Given the description of an element on the screen output the (x, y) to click on. 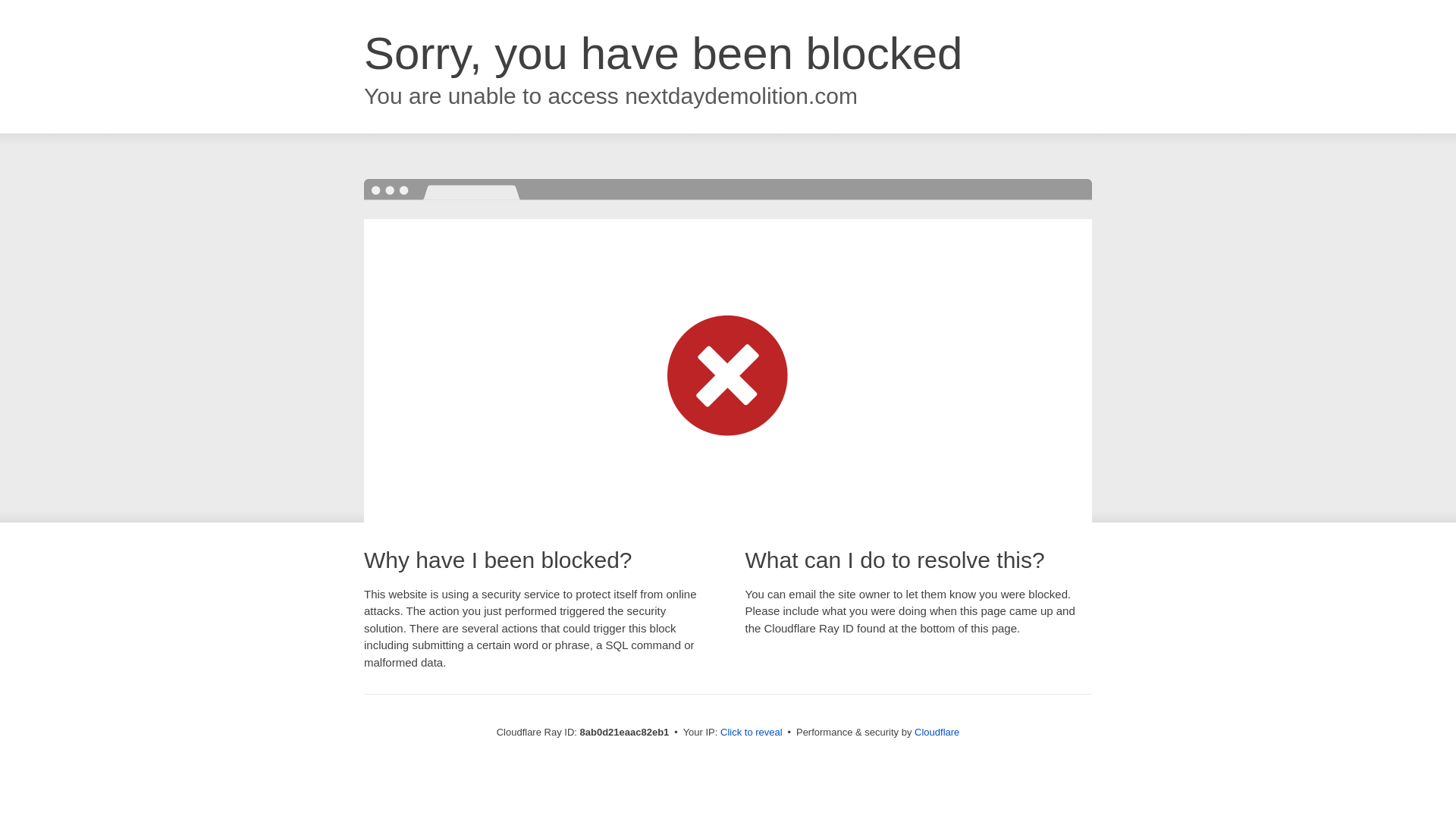
Cloudflare (936, 731)
Click to reveal (751, 732)
